Given the description of an element on the screen output the (x, y) to click on. 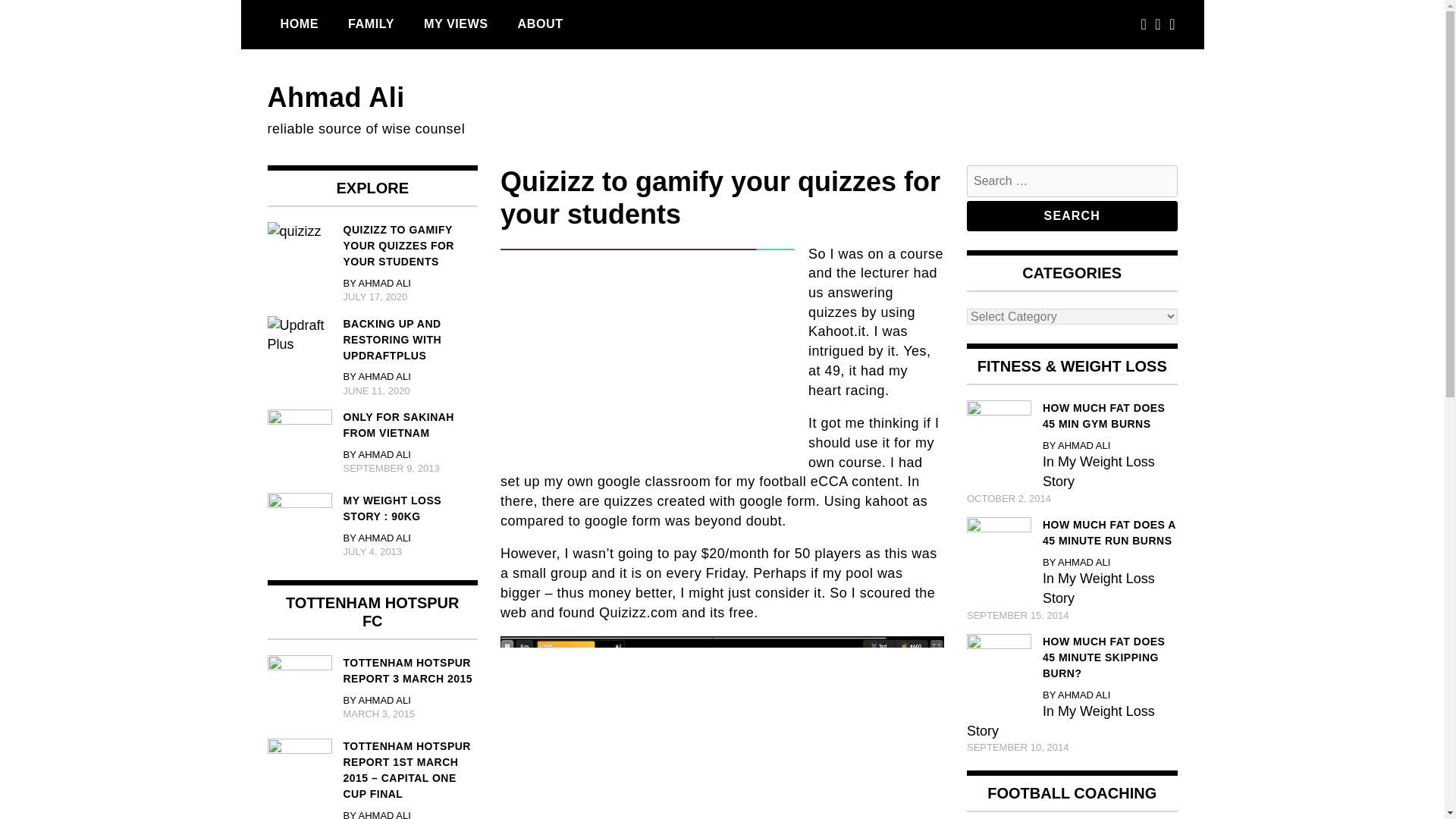
Search (1071, 215)
ABOUT (540, 23)
Ahmad Ali (335, 97)
My Weight Loss Story (1098, 471)
TOTTENHAM HOTSPUR REPORT 3 MARCH 2015 (371, 671)
MY WEIGHT LOSS STORY : 90KG (371, 508)
ONLY FOR SAKINAH FROM VIETNAM (371, 425)
Search (1071, 215)
HOW MUCH FAT DOES A 45 MINUTE RUN BURNS (1071, 532)
MY VIEWS (455, 23)
HOW MUCH FAT DOES 45 MIN GYM BURNS (1071, 416)
QUIZIZZ TO GAMIFY YOUR QUIZZES FOR YOUR STUDENTS (371, 245)
HOW MUCH FAT DOES 45 MINUTE SKIPPING BURN? (1071, 657)
My Weight Loss Story (1098, 588)
HOME (298, 23)
